Given the description of an element on the screen output the (x, y) to click on. 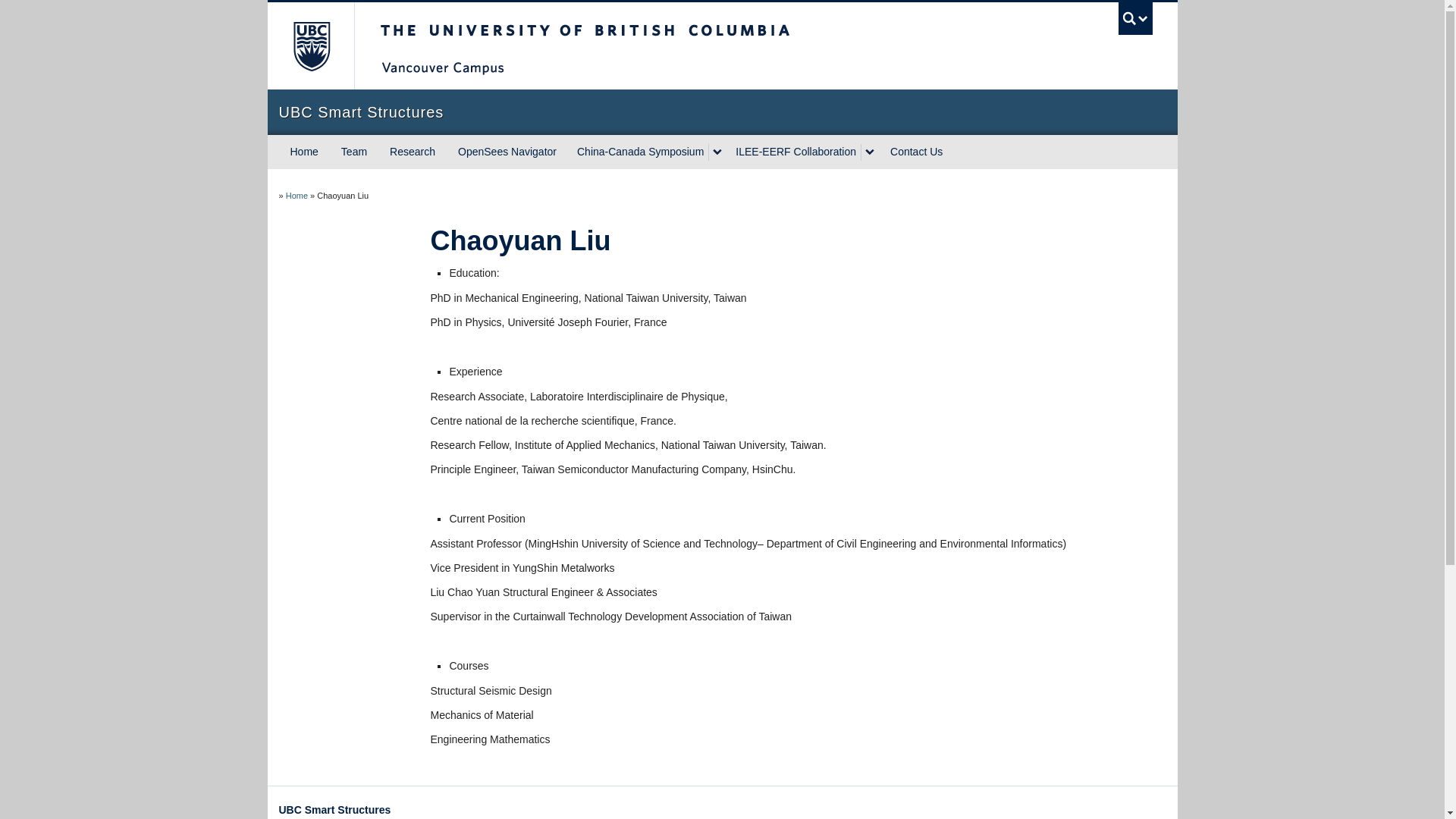
Home (296, 194)
The University of British Columbia (309, 45)
UBC Smart Structures (722, 112)
The University of British Columbia (635, 45)
Contact Us (916, 151)
Home (304, 151)
Team (354, 151)
OpenSees Navigator (506, 151)
Research (412, 151)
UBC Search (1135, 18)
